Given the description of an element on the screen output the (x, y) to click on. 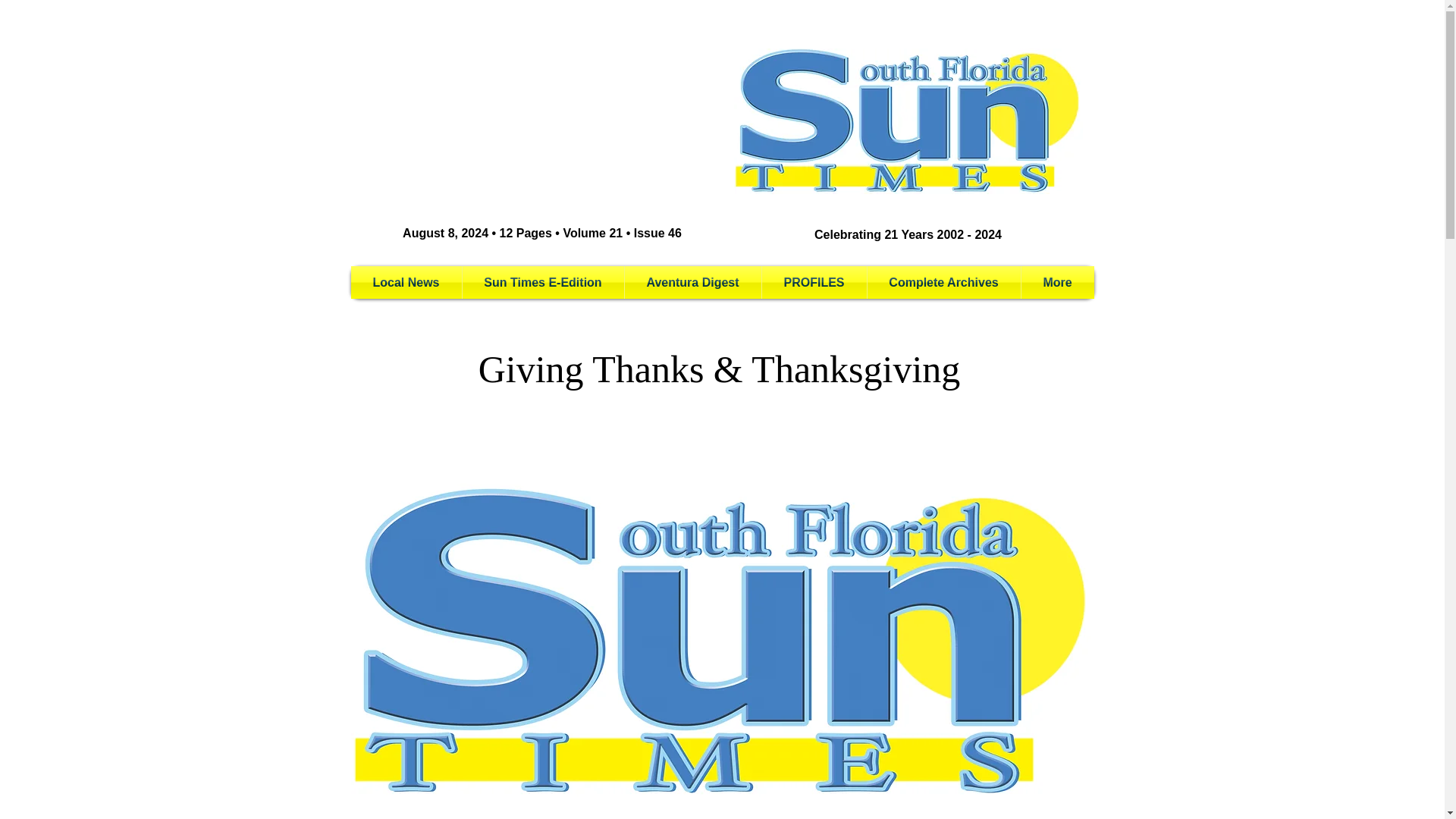
Complete Archives (943, 282)
Sun Times Logo.jpg (908, 121)
Aventura Digest (692, 282)
PROFILES (813, 282)
Sun Times E-Edition (543, 282)
Local News (405, 282)
